Given the description of an element on the screen output the (x, y) to click on. 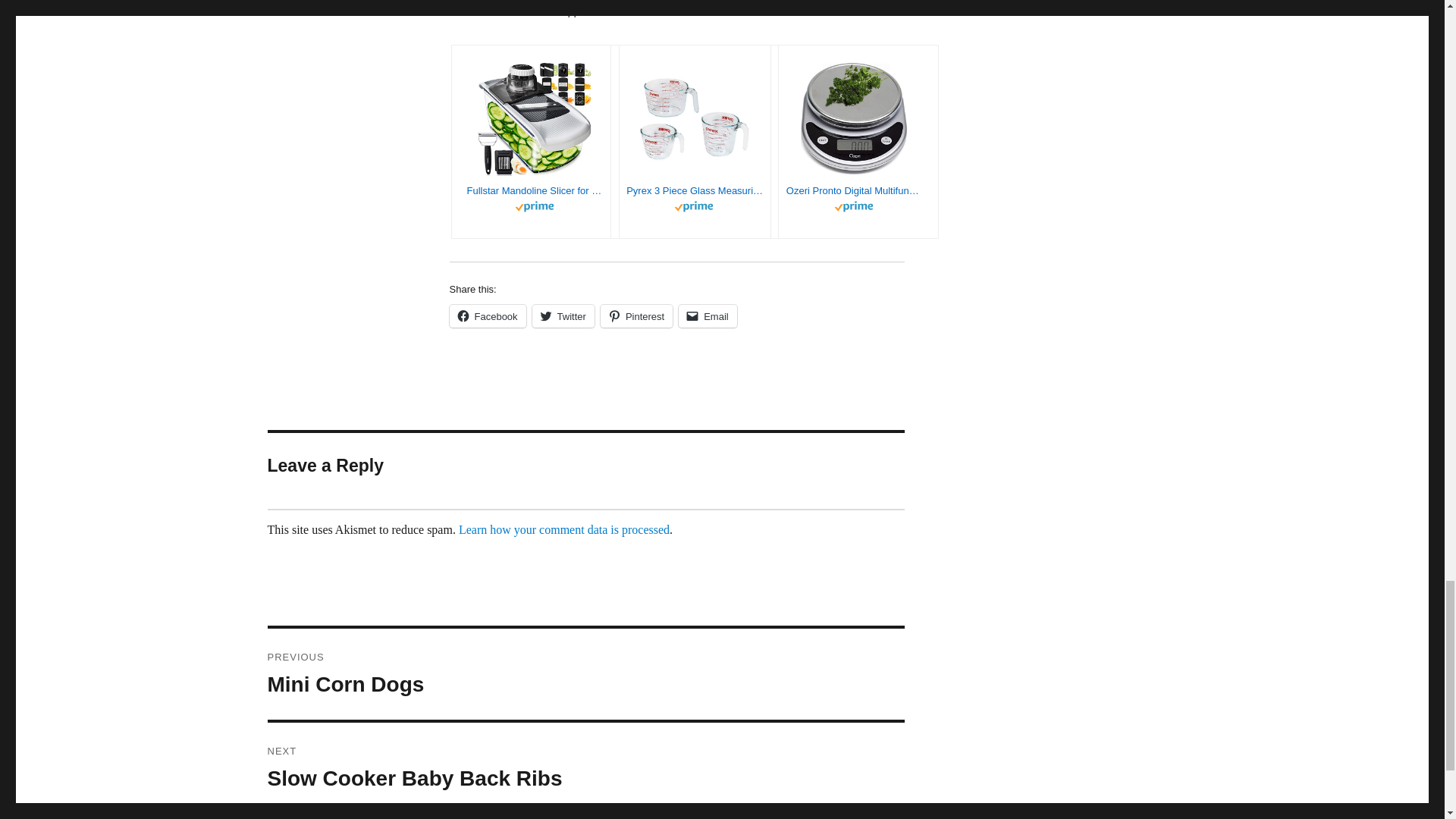
Click to email a link to a friend (707, 315)
Click to share on Twitter (563, 315)
Ozeri Pronto Digital Multifunction Kitchen and Food Scale (854, 191)
Click to share on Facebook (486, 315)
Click to share on Pinterest (635, 315)
